Given the description of an element on the screen output the (x, y) to click on. 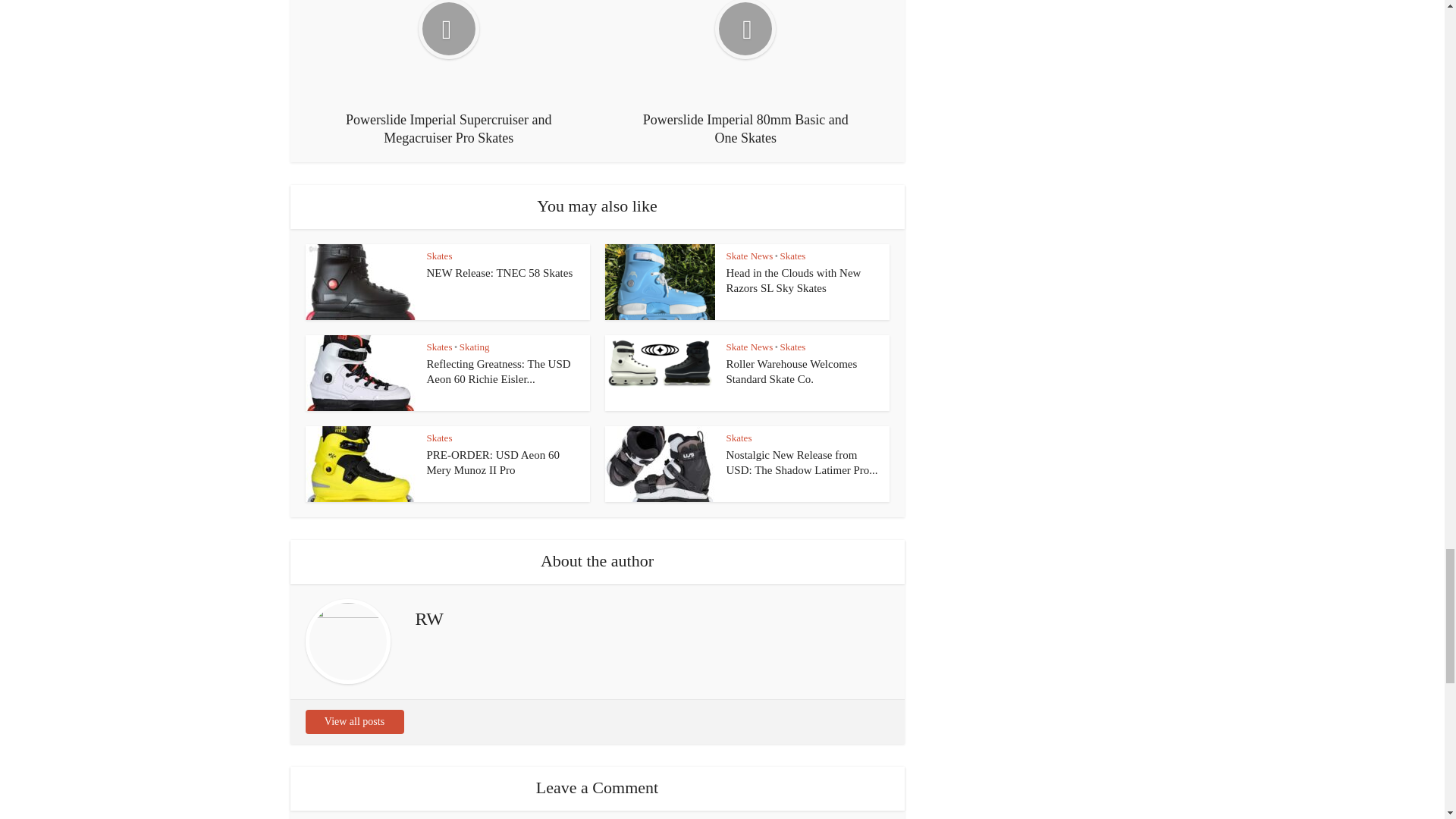
PRE-ORDER: USD Aeon 60 Mery Munoz II Pro (492, 461)
NEW Release: TNEC 58 Skates (499, 272)
Head in the Clouds with New Razors SL Sky Skates (793, 280)
Roller Warehouse Welcomes Standard Skate Co. (791, 370)
